Given the description of an element on the screen output the (x, y) to click on. 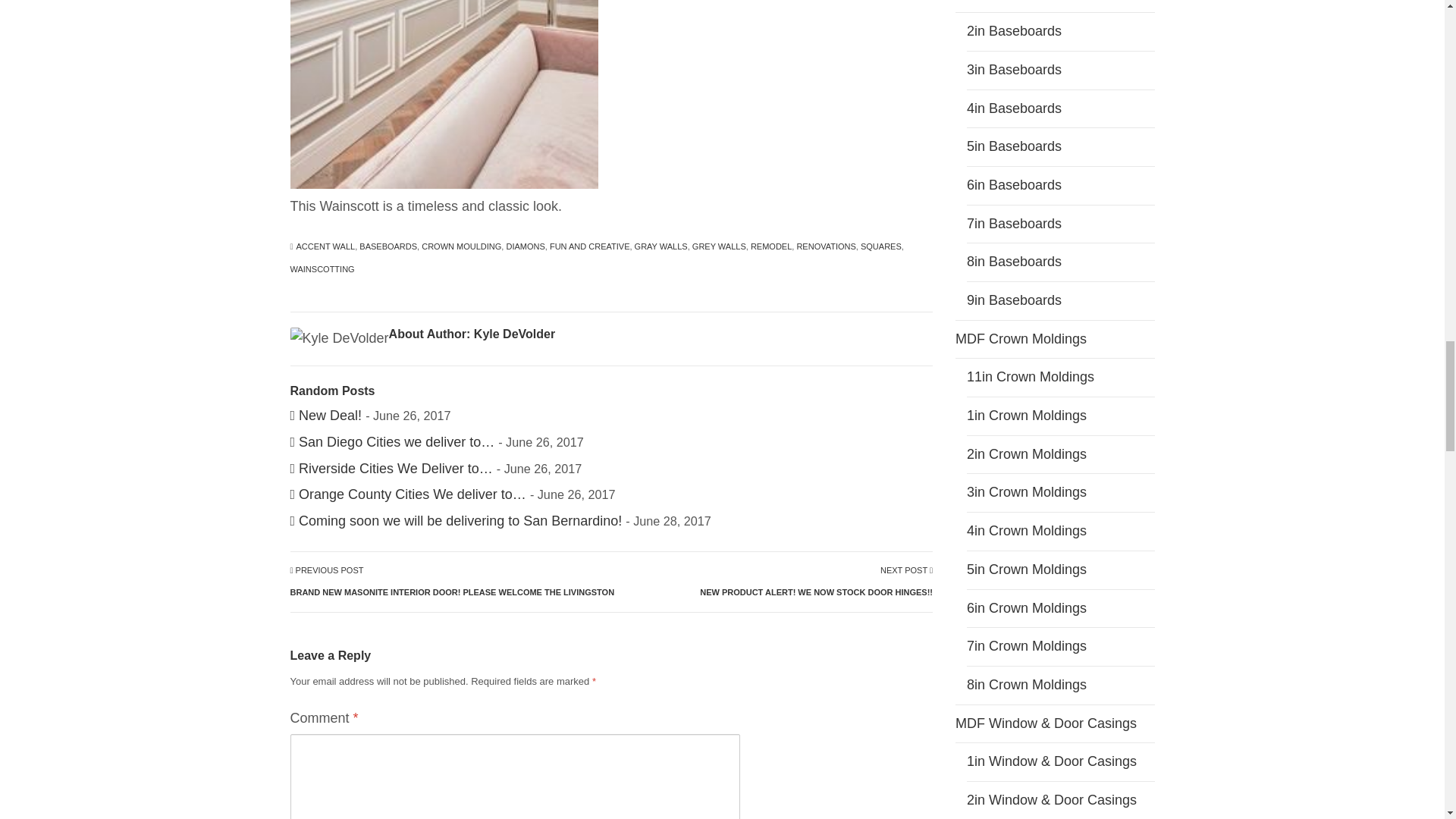
Coming soon we will be delivering to San Bernardino! (455, 520)
GREY WALLS (719, 246)
FUN AND CREATIVE (590, 246)
SQUARES (880, 246)
CROWN MOULDING (461, 246)
GRAY WALLS (660, 246)
ACCENT WALL (326, 246)
DIAMONS (524, 246)
New Deal! (325, 415)
WAINSCOTTING (321, 269)
RENOVATIONS (816, 581)
REMODEL (826, 246)
BASEBOARDS (771, 246)
